Given the description of an element on the screen output the (x, y) to click on. 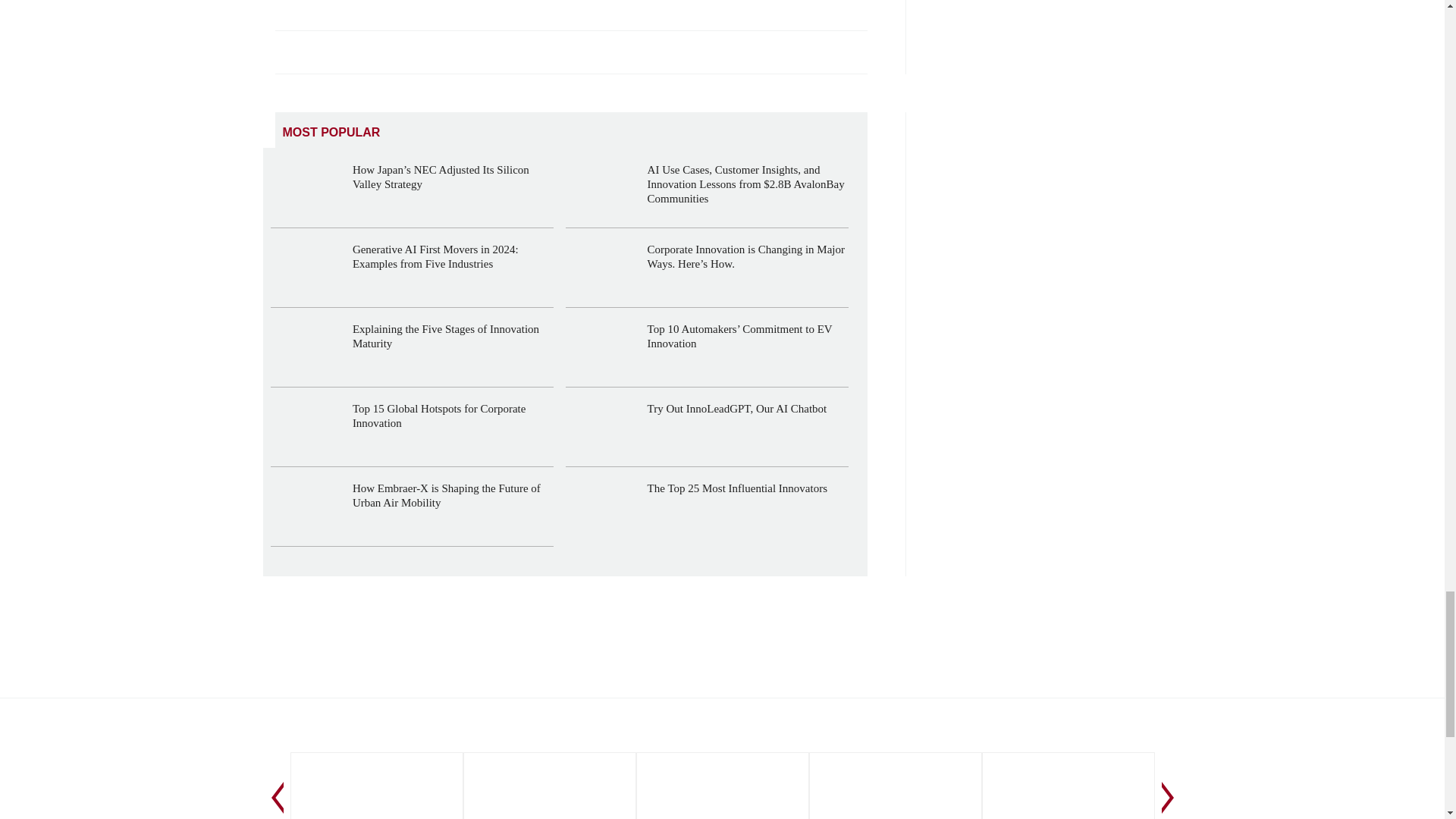
LinkedIn (288, 52)
Twitter (322, 52)
Facebook (357, 52)
Email (392, 52)
